Given the description of an element on the screen output the (x, y) to click on. 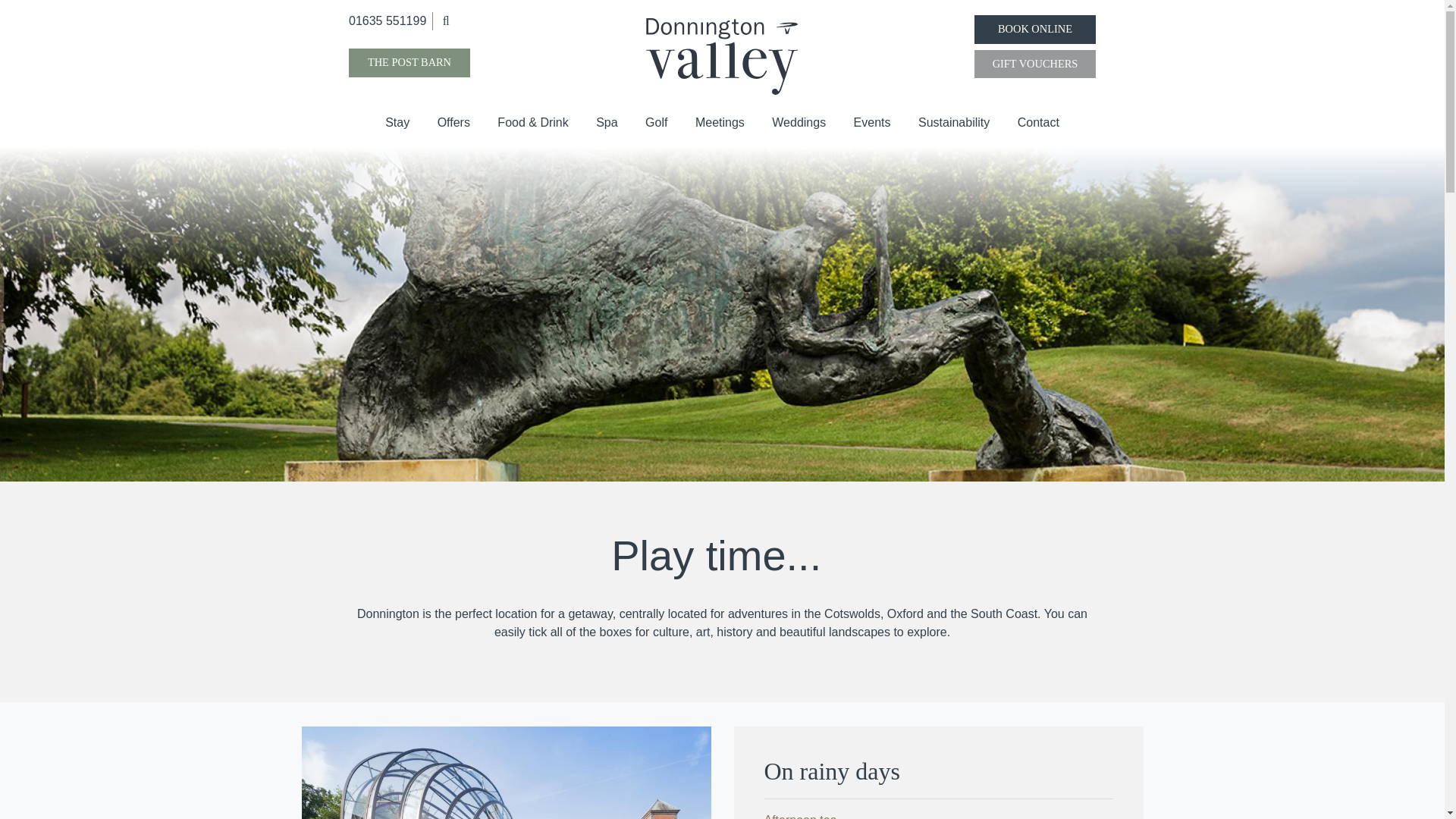
Donnington Valley (721, 56)
Click to call us (387, 20)
